Given the description of an element on the screen output the (x, y) to click on. 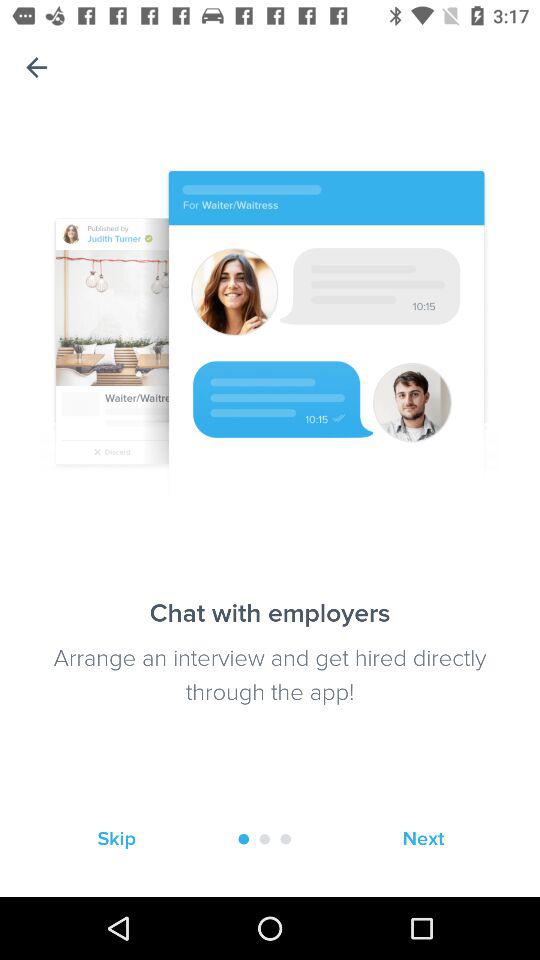
turn off the item at the top left corner (36, 68)
